Given the description of an element on the screen output the (x, y) to click on. 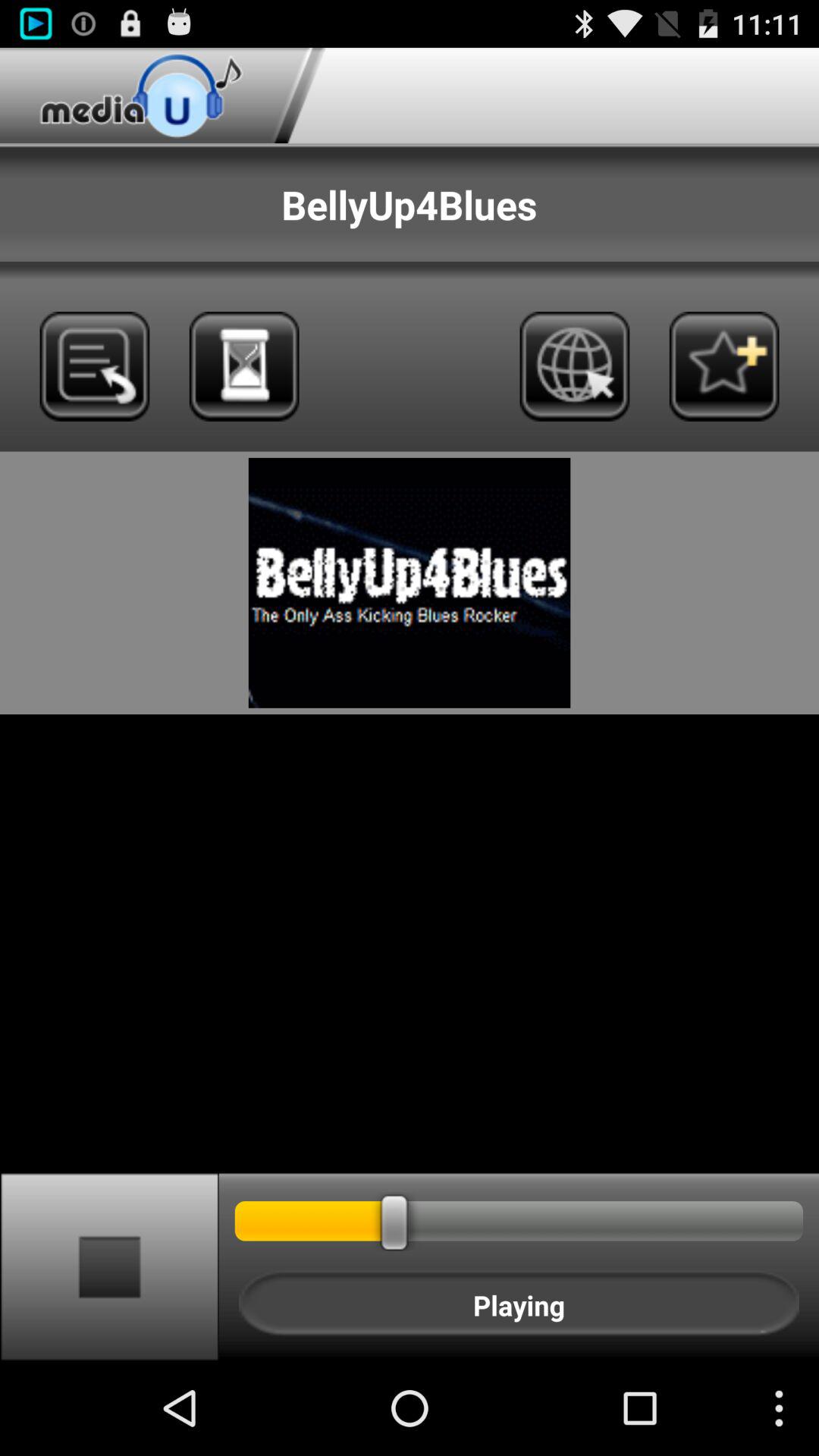
add favorite (724, 366)
